Given the description of an element on the screen output the (x, y) to click on. 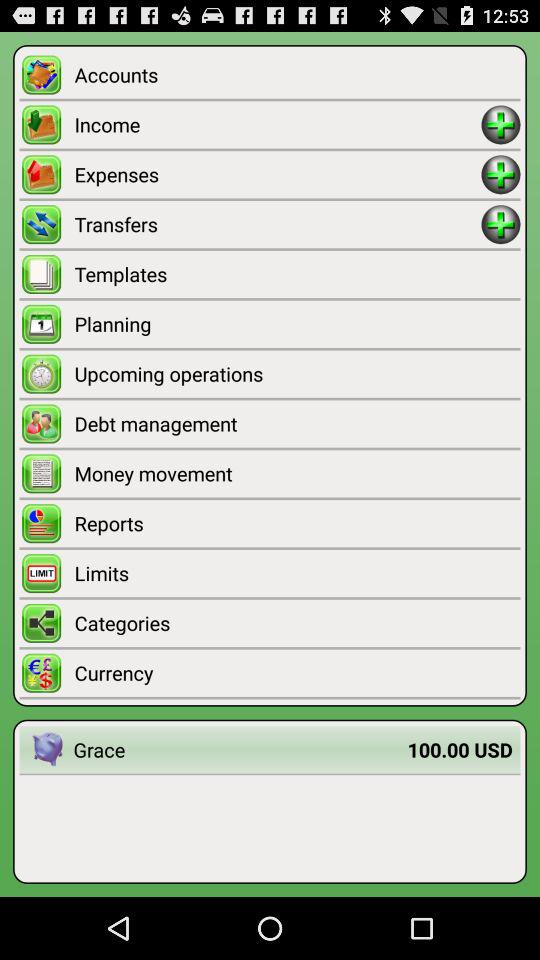
turn on debt management (297, 423)
